Given the description of an element on the screen output the (x, y) to click on. 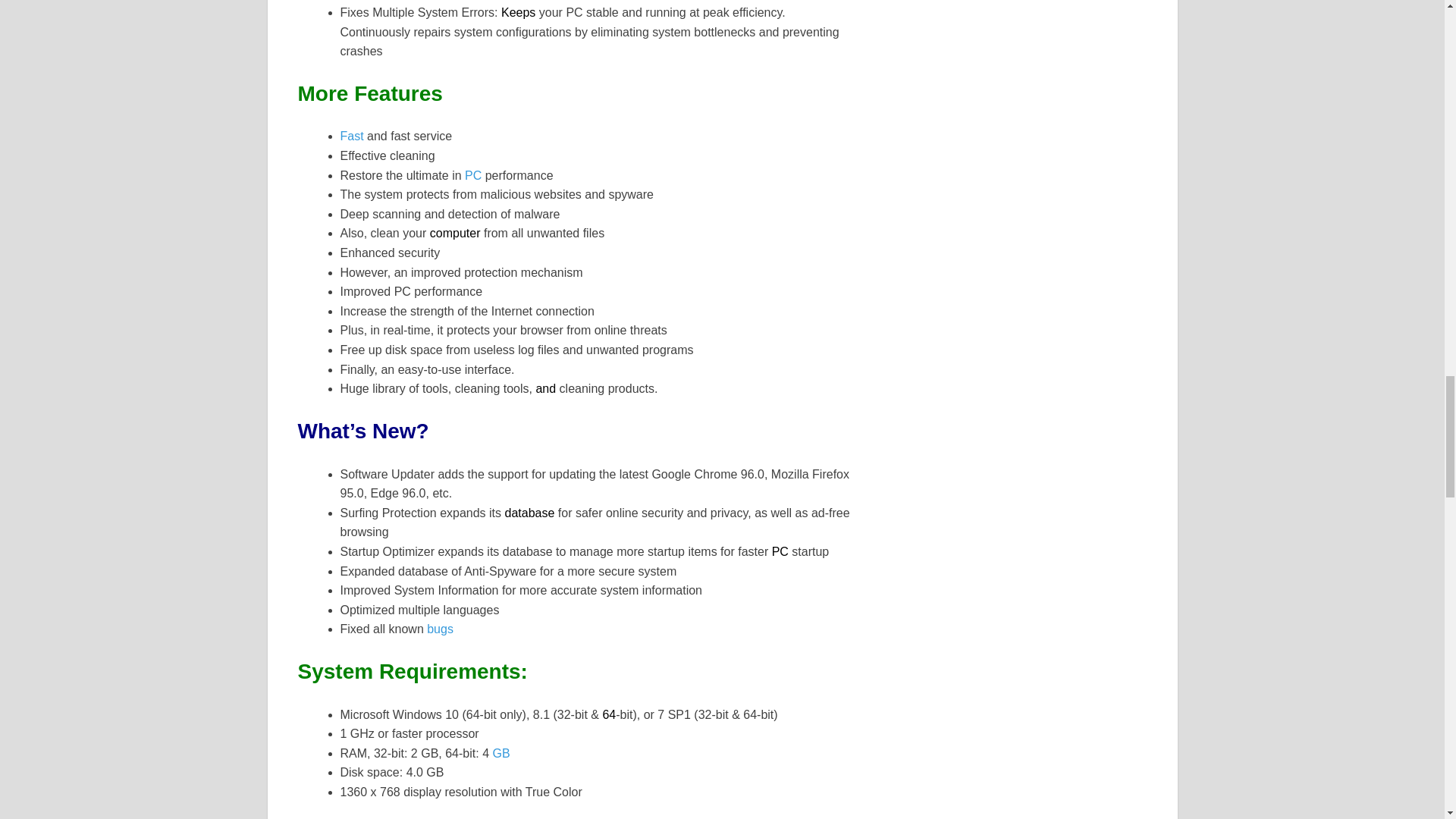
GB (500, 753)
Keeps (517, 11)
PC (780, 551)
database (529, 512)
and (545, 388)
64 (608, 714)
Fast (350, 135)
computer (454, 232)
bugs (439, 628)
PC (472, 174)
